Given the description of an element on the screen output the (x, y) to click on. 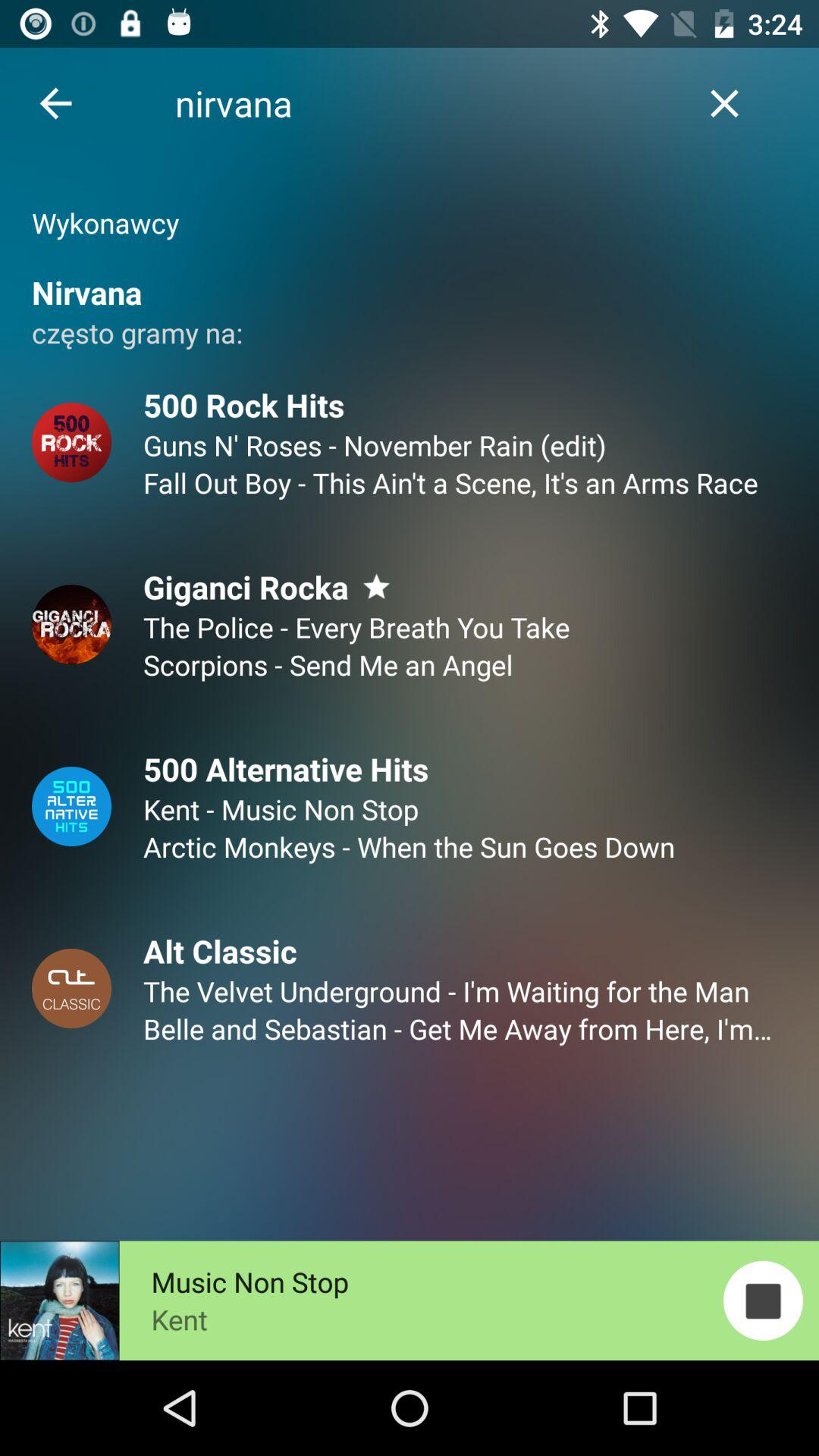
press the item at the bottom right corner (763, 1300)
